Given the description of an element on the screen output the (x, y) to click on. 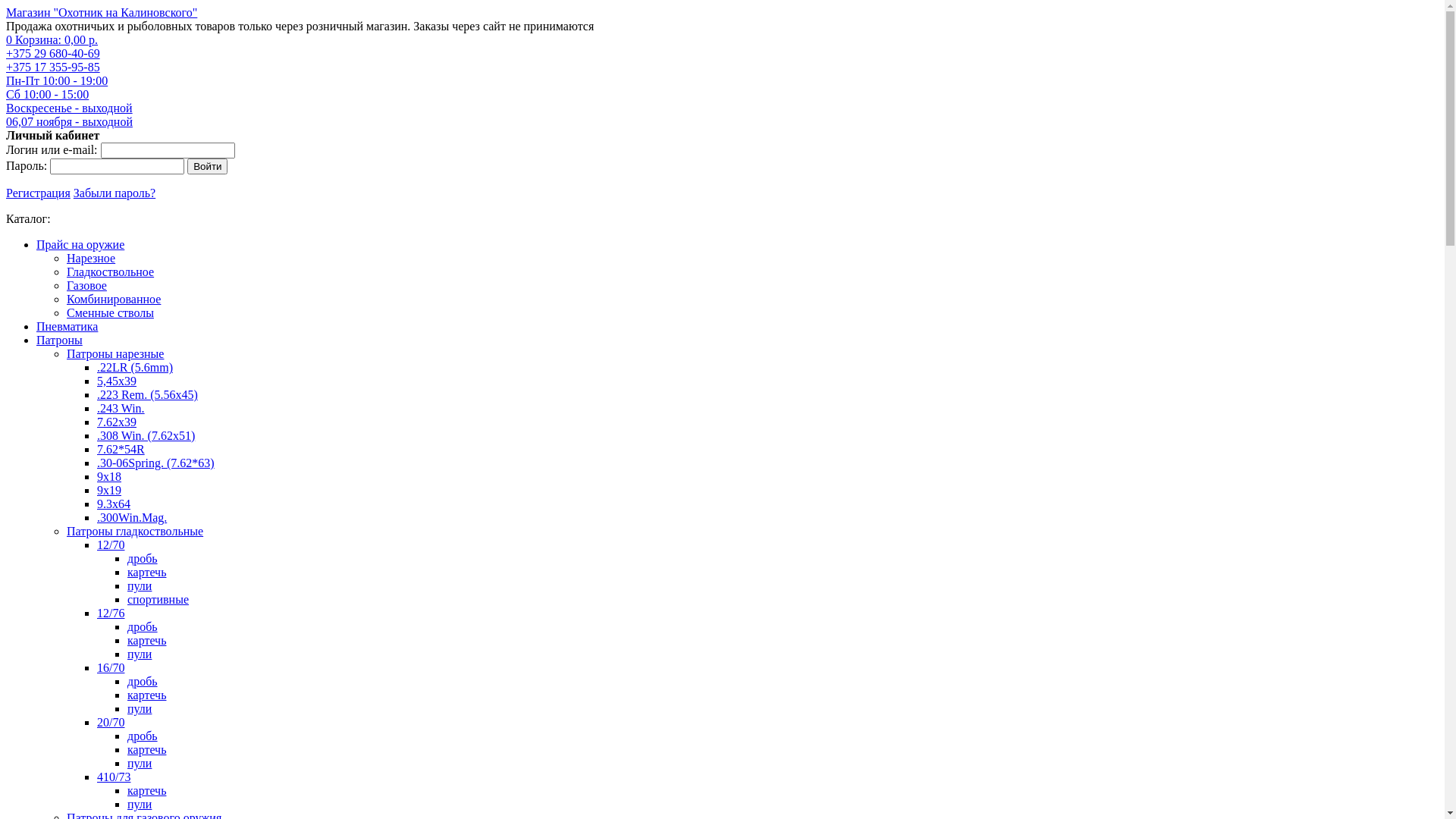
9.3x64 Element type: text (113, 503)
.300Win.Mag. Element type: text (131, 517)
7.62x39 Element type: text (116, 421)
.243 Win. Element type: text (120, 407)
9x18 Element type: text (109, 476)
12/70 Element type: text (110, 544)
12/76 Element type: text (110, 612)
20/70 Element type: text (110, 721)
.308 Win. (7.62x51) Element type: text (145, 435)
7.62*54R Element type: text (120, 448)
.223 Rem. (5.56x45) Element type: text (147, 394)
.22LR (5.6mm) Element type: text (134, 366)
+375 29 680-40-69 Element type: text (53, 53)
410/73 Element type: text (113, 776)
.30-06Spring. (7.62*63) Element type: text (155, 462)
9x19 Element type: text (109, 489)
+375 17 355-95-85 Element type: text (53, 66)
16/70 Element type: text (110, 667)
